Given the description of an element on the screen output the (x, y) to click on. 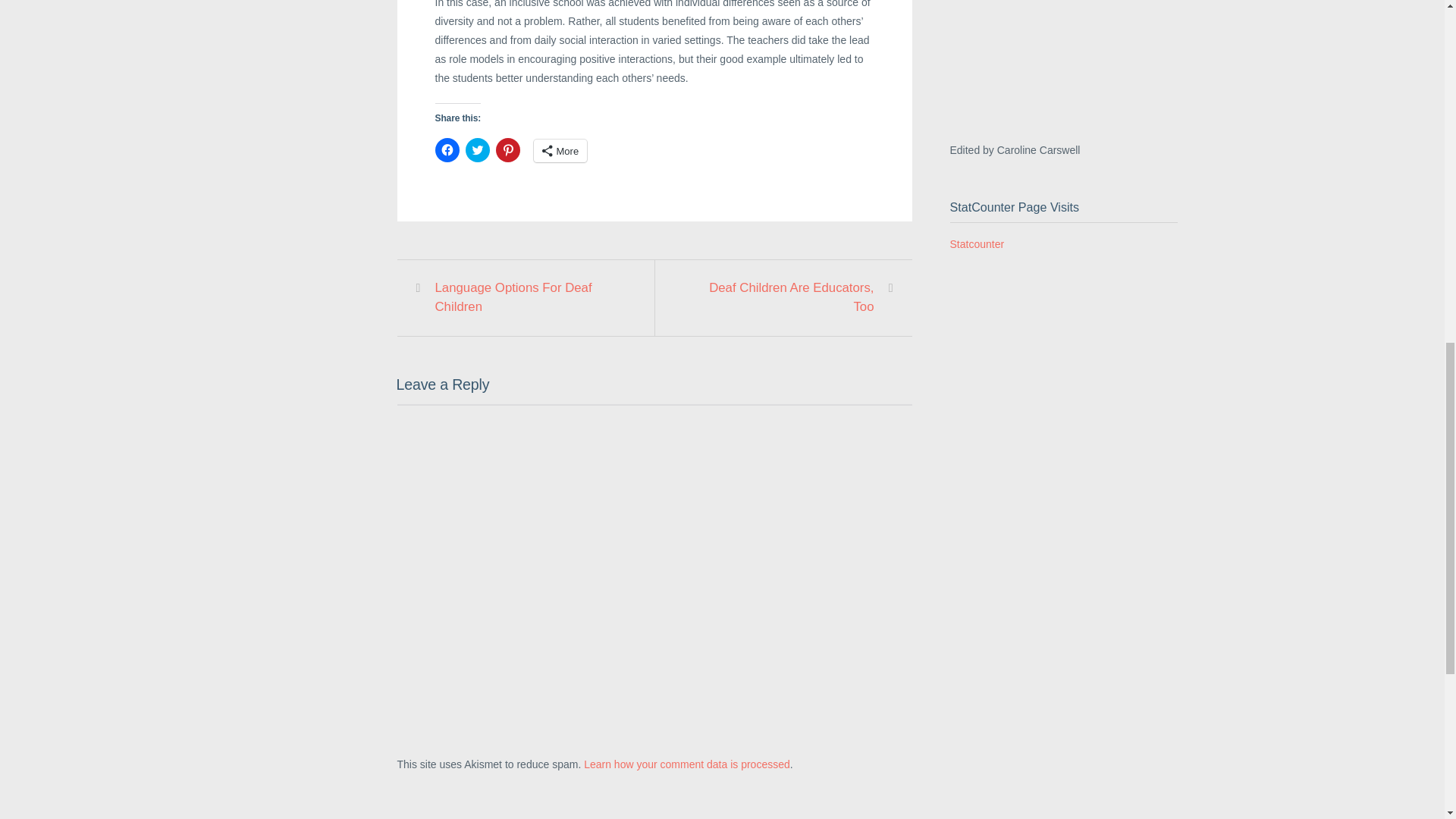
Click to share on Pinterest (507, 150)
Click to share on Facebook (447, 150)
Click to share on Twitter (477, 150)
Previous (523, 297)
